Given the description of an element on the screen output the (x, y) to click on. 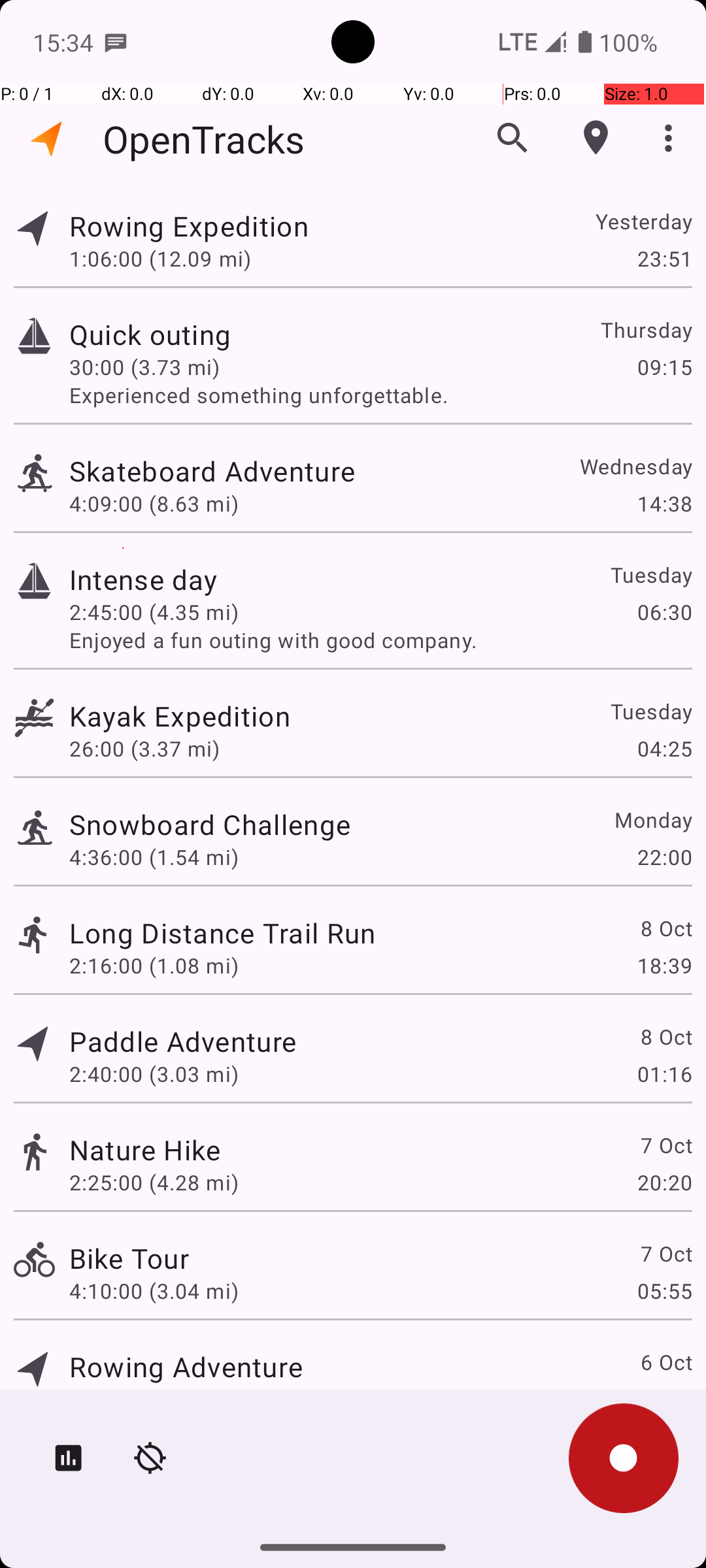
Rowing Expedition Element type: android.widget.TextView (188, 225)
1:06:00 (12.09 mi) Element type: android.widget.TextView (159, 258)
23:51 Element type: android.widget.TextView (664, 258)
Quick outing Element type: android.widget.TextView (149, 333)
30:00 (3.73 mi) Element type: android.widget.TextView (144, 366)
09:15 Element type: android.widget.TextView (664, 366)
Experienced something unforgettable. Element type: android.widget.TextView (380, 394)
Skateboard Adventure Element type: android.widget.TextView (211, 470)
4:09:00 (8.63 mi) Element type: android.widget.TextView (153, 503)
14:38 Element type: android.widget.TextView (664, 503)
Intense day Element type: android.widget.TextView (143, 578)
2:45:00 (4.35 mi) Element type: android.widget.TextView (153, 611)
06:30 Element type: android.widget.TextView (664, 611)
Enjoyed a fun outing with good company. Element type: android.widget.TextView (380, 639)
Kayak Expedition Element type: android.widget.TextView (179, 715)
26:00 (3.37 mi) Element type: android.widget.TextView (144, 748)
04:25 Element type: android.widget.TextView (664, 748)
Snowboard Challenge Element type: android.widget.TextView (209, 823)
4:36:00 (1.54 mi) Element type: android.widget.TextView (153, 856)
22:00 Element type: android.widget.TextView (664, 856)
Long Distance Trail Run Element type: android.widget.TextView (221, 932)
2:16:00 (1.08 mi) Element type: android.widget.TextView (153, 965)
18:39 Element type: android.widget.TextView (664, 965)
Paddle Adventure Element type: android.widget.TextView (182, 1040)
2:40:00 (3.03 mi) Element type: android.widget.TextView (153, 1073)
01:16 Element type: android.widget.TextView (664, 1073)
Nature Hike Element type: android.widget.TextView (144, 1149)
2:25:00 (4.28 mi) Element type: android.widget.TextView (153, 1182)
20:20 Element type: android.widget.TextView (664, 1182)
Bike Tour Element type: android.widget.TextView (128, 1257)
4:10:00 (3.04 mi) Element type: android.widget.TextView (153, 1290)
05:55 Element type: android.widget.TextView (664, 1290)
Rowing Adventure Element type: android.widget.TextView (185, 1366)
6 Oct Element type: android.widget.TextView (665, 1361)
1:33:00 (6.33 mi) Element type: android.widget.TextView (153, 1399)
04:41 Element type: android.widget.TextView (664, 1399)
